Given the description of an element on the screen output the (x, y) to click on. 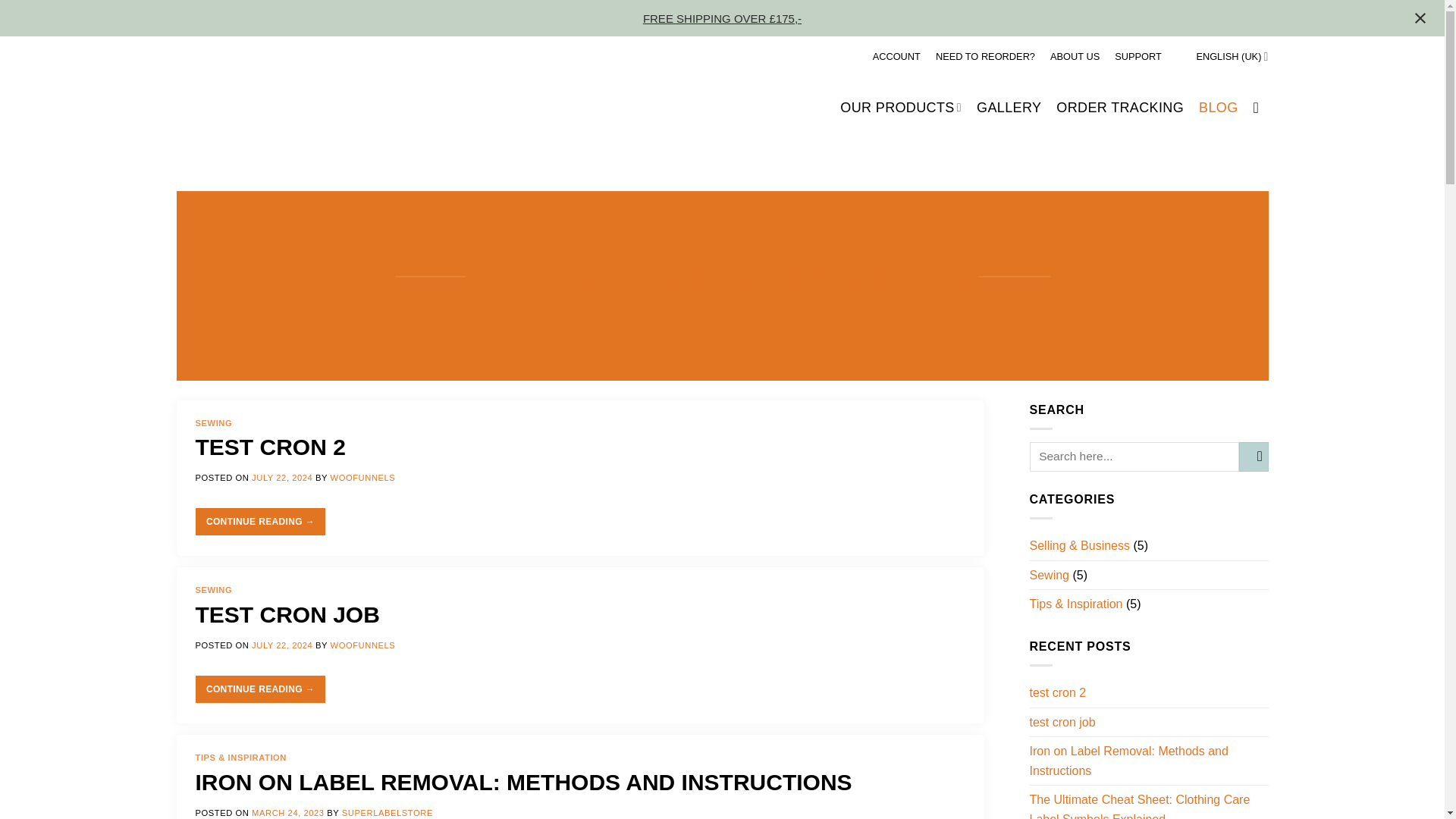
ORDER TRACKING (1120, 107)
ABOUT US (1074, 56)
WOOFUNNELS (363, 645)
SUPPORT (1138, 56)
TEST CRON JOB (287, 614)
TEST CRON 2 (270, 446)
SEWING (213, 589)
ACCOUNT (896, 56)
NEED TO REORDER? (985, 56)
Superlabelstore UK (269, 107)
